Given the description of an element on the screen output the (x, y) to click on. 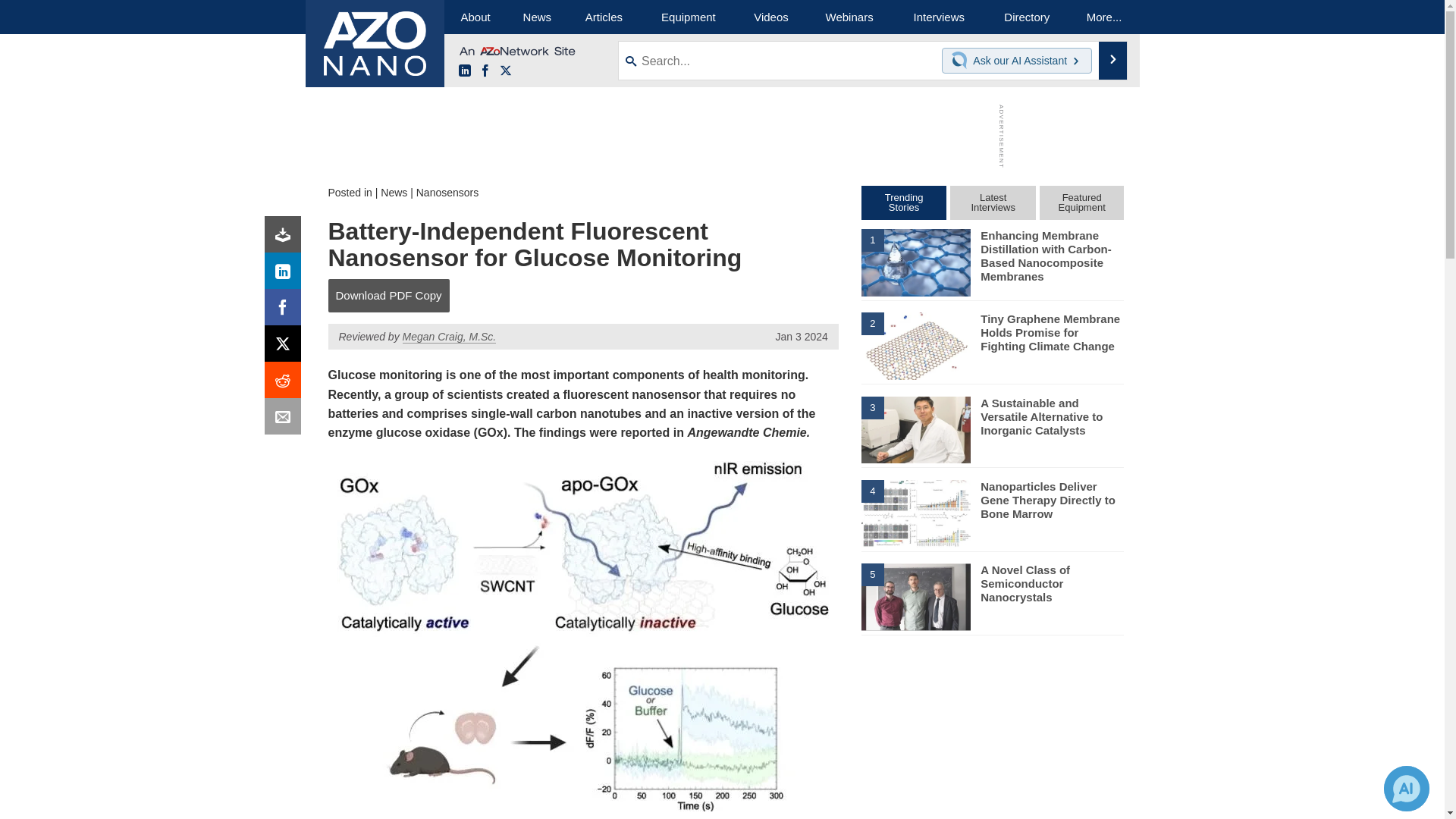
X (285, 348)
Chat with our AI Assistant Ask our AI Assistant (1017, 60)
Webinars (849, 17)
News (536, 17)
Facebook (285, 311)
More... (1104, 17)
Articles (603, 17)
X (505, 71)
About (475, 17)
Nanosensors (447, 192)
